Given the description of an element on the screen output the (x, y) to click on. 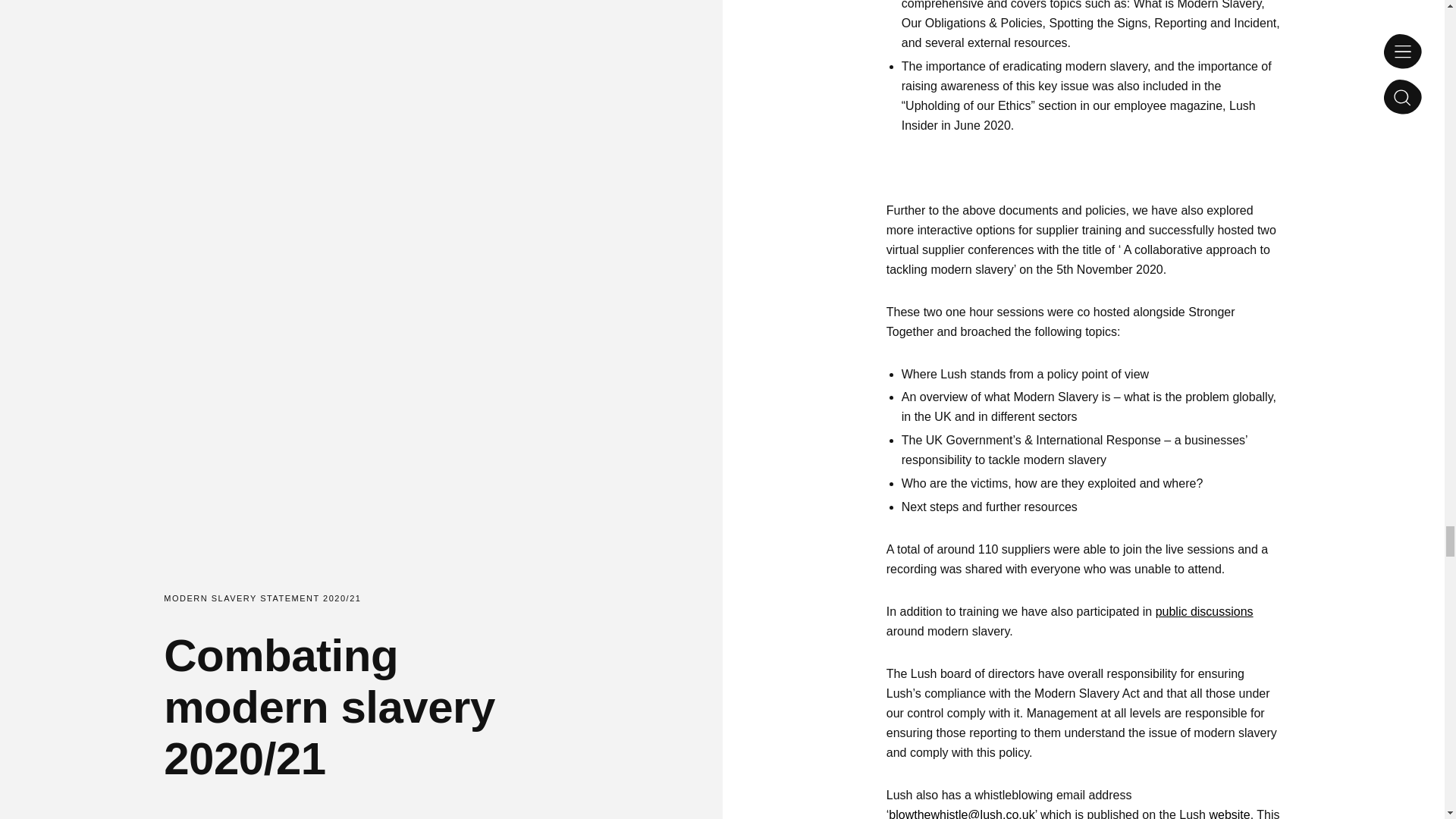
website (1228, 813)
public discussions (1204, 611)
